Given the description of an element on the screen output the (x, y) to click on. 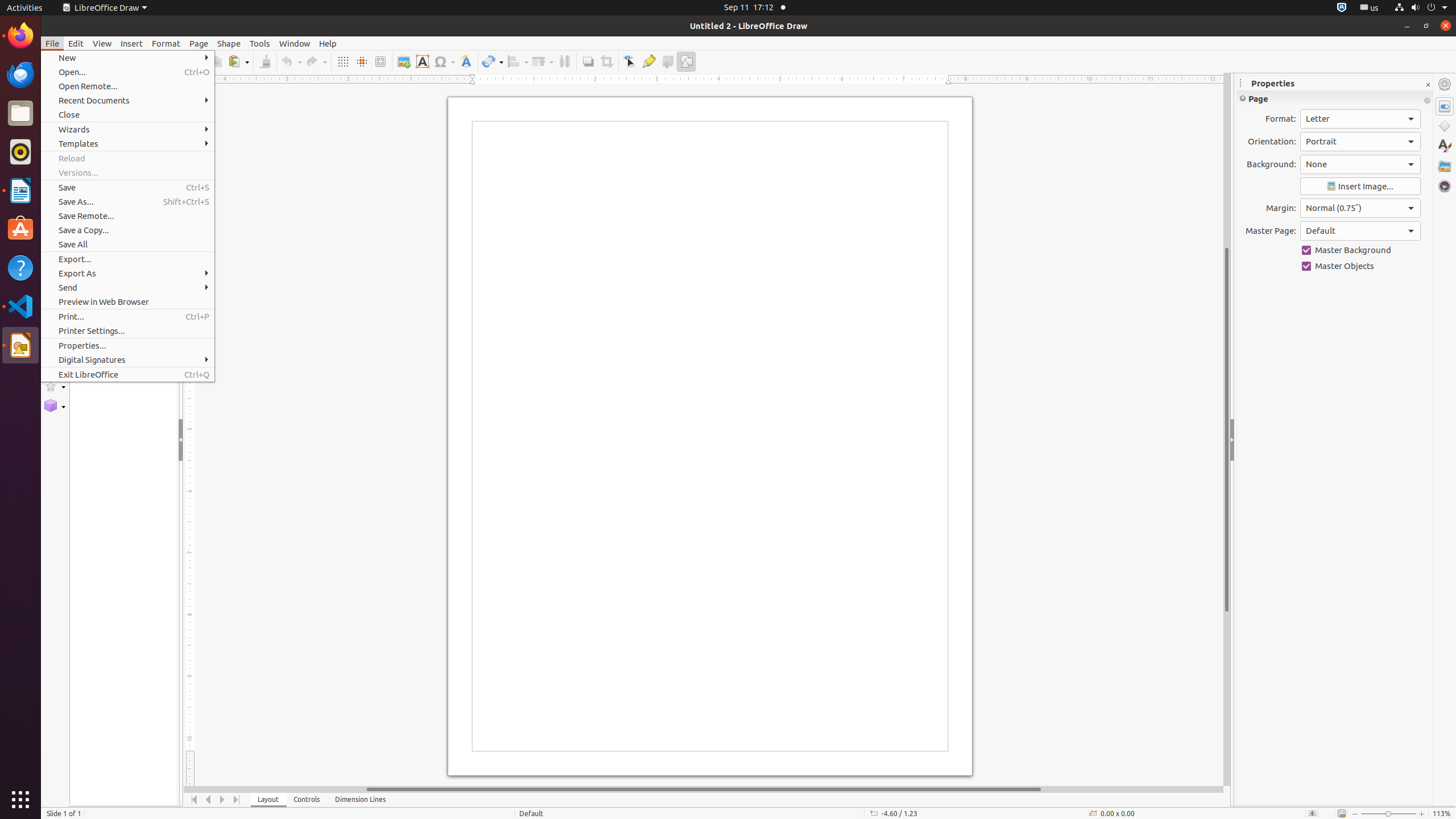
Shapes Element type: radio-button (1444, 126)
Vertical scroll bar Element type: scroll-bar (1226, 429)
Helplines While Moving Element type: toggle-button (361, 61)
3D Objects Element type: push-button (54, 406)
Save As... Element type: menu-item (127, 201)
